Given the description of an element on the screen output the (x, y) to click on. 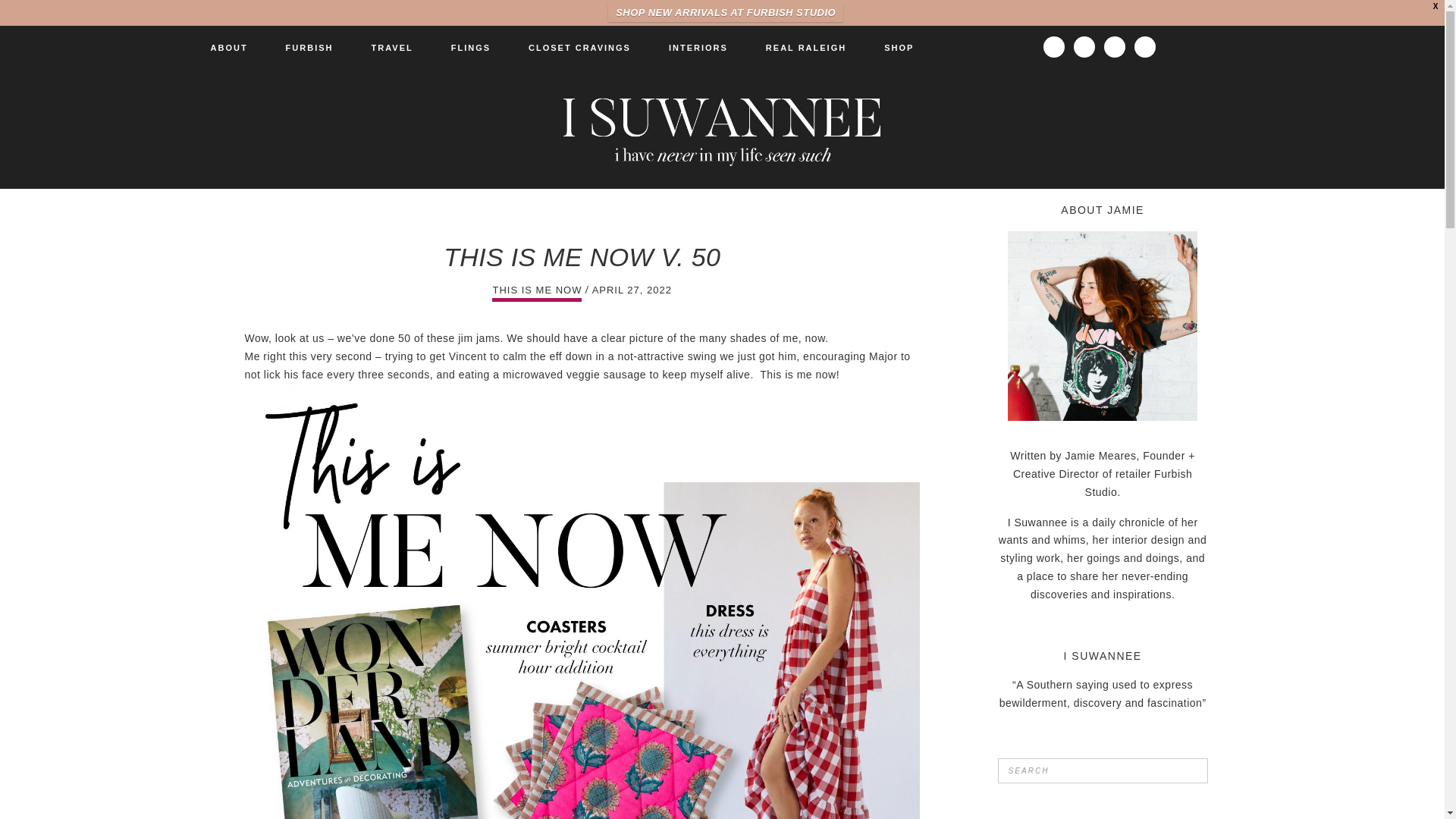
THIS IS ME NOW (536, 289)
FLINGS (470, 47)
ABOUT (228, 47)
INTERIORS (697, 47)
SHOP NEW ARRIVALS AT FURBISH STUDIO (725, 13)
REAL RALEIGH (805, 47)
TRAVEL (391, 47)
FURBISH (309, 47)
SHOP (898, 47)
CLOSET CRAVINGS (579, 47)
I Suwannee (721, 128)
